Given the description of an element on the screen output the (x, y) to click on. 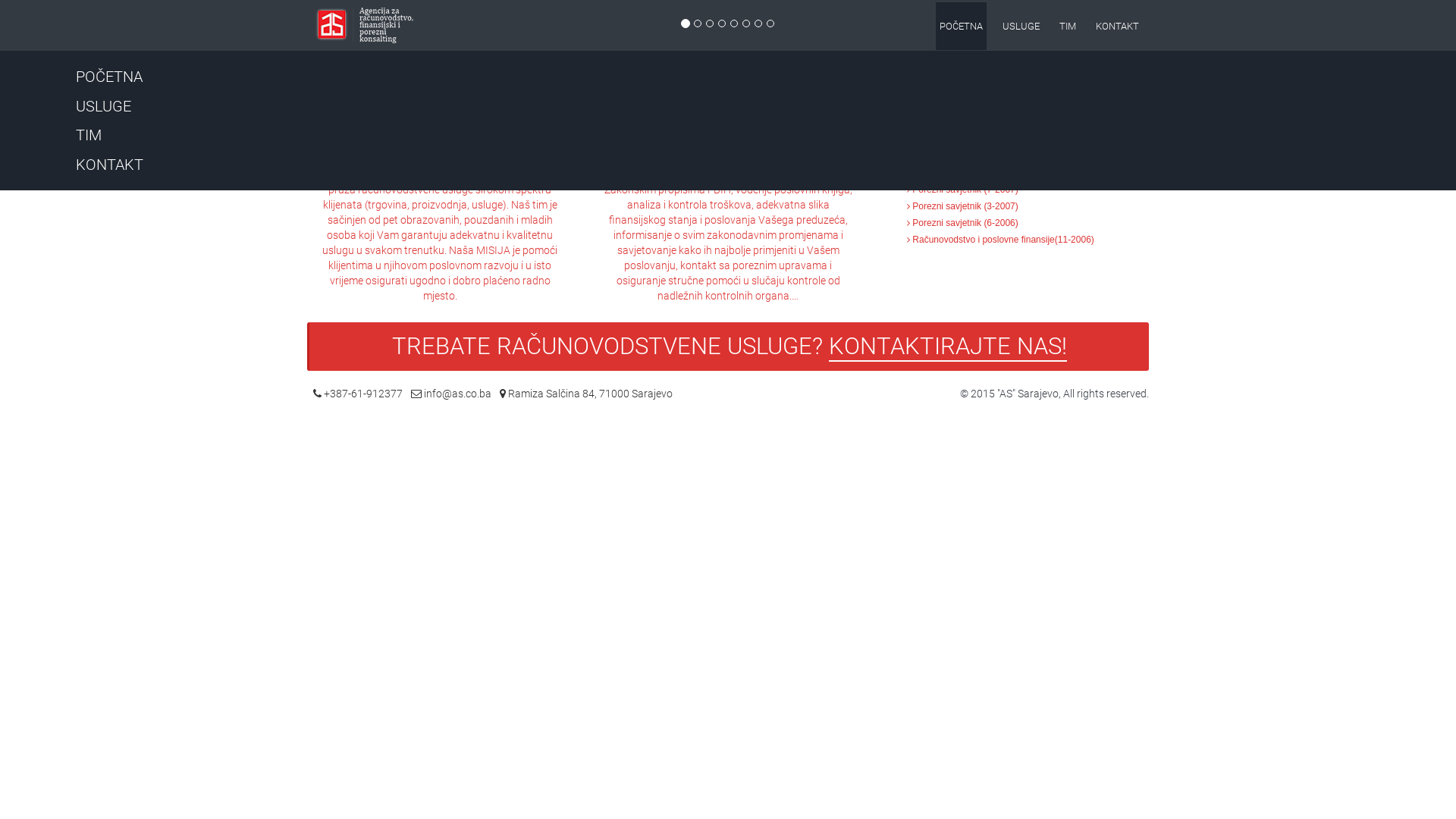
KONTAKT Element type: text (109, 164)
Porezni savjetnik (6-2006) Element type: text (962, 222)
Porezni savjetnik (8-2014) Element type: text (962, 171)
TIM Element type: text (88, 134)
USLUGE Element type: text (103, 106)
TIM Element type: text (1067, 26)
USLUGE Element type: text (1020, 26)
KONTAKT Element type: text (1117, 26)
Porezni savjetnik (3-2007) Element type: text (962, 205)
Porezni savjetnik (7-2007) Element type: text (962, 189)
